Given the description of an element on the screen output the (x, y) to click on. 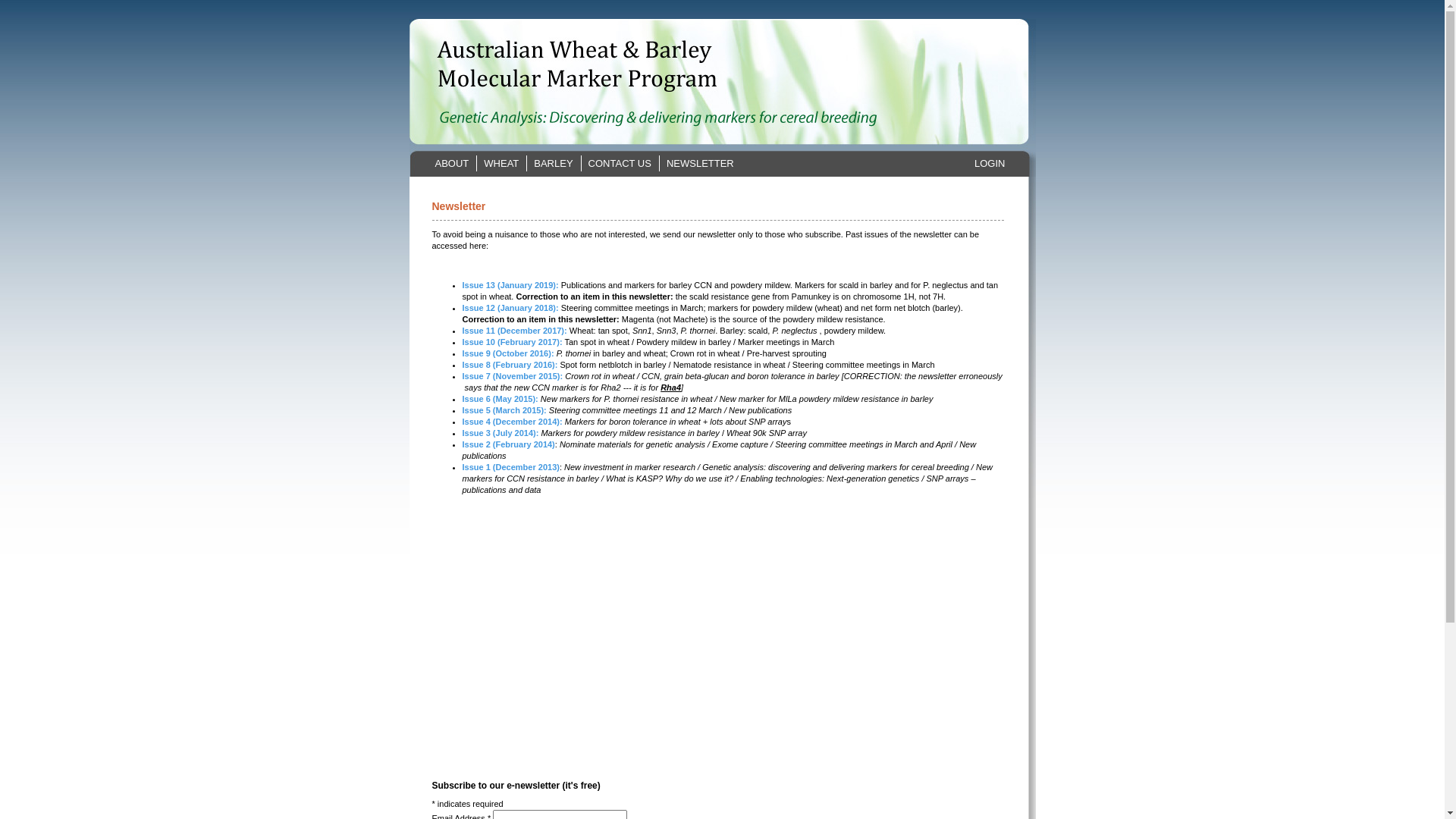
Issue 3 (July 2014): Element type: text (500, 432)
LOGIN Element type: text (989, 163)
Issue 13 (January 2019): Element type: text (510, 284)
Issue 10 (February 2017): Element type: text (512, 341)
Issue 2 (February 2014) Element type: text (508, 443)
Issue 11 (December 2017): Element type: text (514, 330)
Issue 8 (February 2016): Element type: text (510, 364)
BARLEY Element type: text (553, 163)
WHEAT Element type: text (501, 163)
NEWSLETTER Element type: text (699, 163)
Issue 1 (December 2013) Element type: text (510, 466)
Issue 7 (November 2015): Element type: text (512, 375)
CONTACT US Element type: text (619, 163)
Issue 4 (December 2014): Element type: text (513, 421)
Issue 9 (October 2016): Element type: text (508, 352)
Issue 5 (March 2015): Element type: text (504, 409)
Issue 12 (January 2018): Element type: text (510, 307)
Issue 6 (May 2015): Element type: text (501, 398)
ABOUT Element type: text (452, 163)
